Given the description of an element on the screen output the (x, y) to click on. 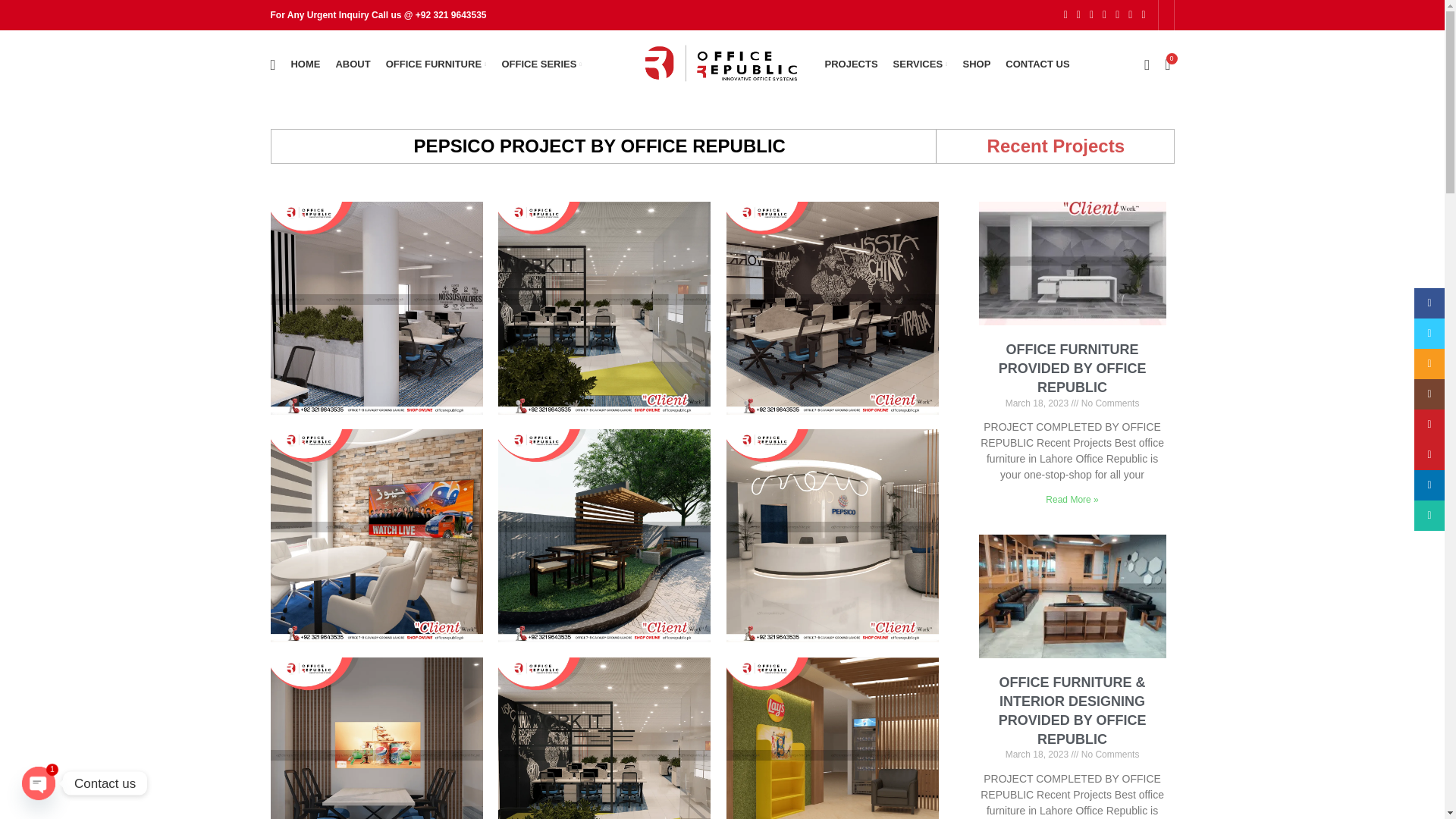
Shopping cart (1167, 64)
My account (1147, 64)
OFFICE FURNITURE (436, 64)
HOME (304, 64)
ABOUT (352, 64)
Search (272, 64)
